Given the description of an element on the screen output the (x, y) to click on. 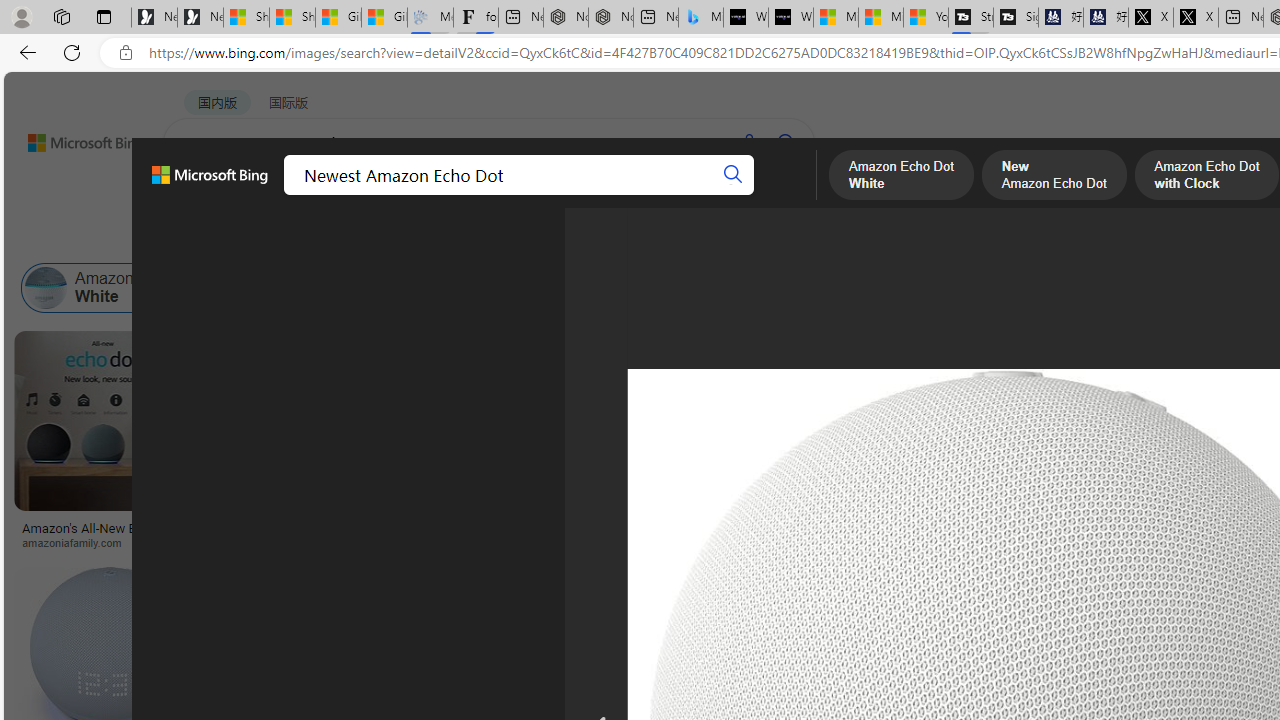
WEB (201, 195)
Date (591, 237)
WEB (201, 195)
amazoniafamily.com (78, 541)
Image size (221, 237)
Microsoft Bing Travel - Shangri-La Hotel Bangkok (700, 17)
Back to Bing search (73, 138)
Layout (443, 237)
amazoniafamily.com (102, 542)
Amazon Echo Dot 2 (681, 287)
